Given the description of an element on the screen output the (x, y) to click on. 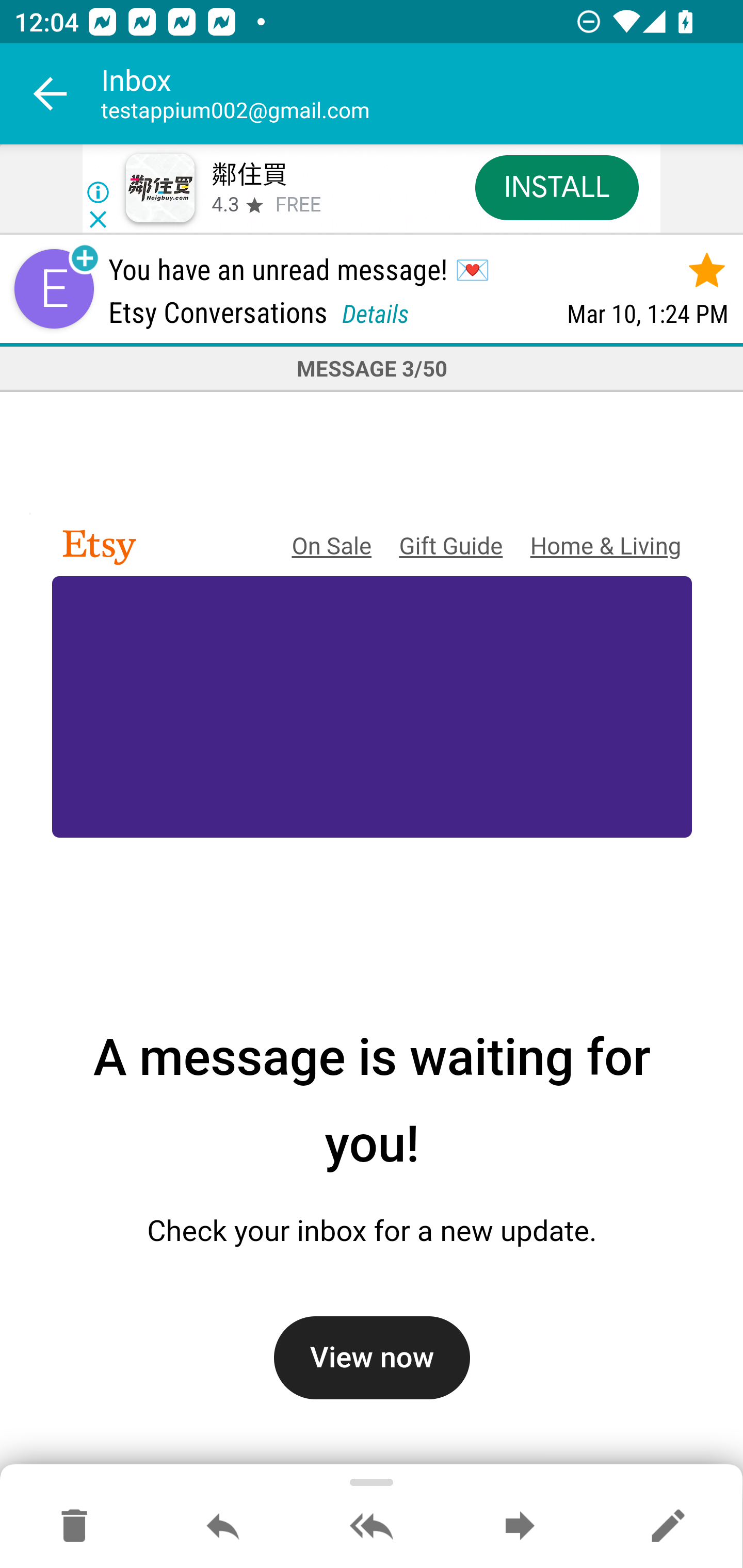
Navigate up (50, 93)
Inbox testappium002@gmail.com (422, 93)
INSTALL (556, 187)
鄰住買 (249, 175)
Sender contact button (53, 289)
On Sale (331, 547)
Gift Guide (450, 547)
Home & Living (605, 547)
Etsy (93, 546)
View now (371, 1356)
Move to Deleted (74, 1527)
Reply (222, 1527)
Reply all (371, 1527)
Forward (519, 1527)
Reply as new (667, 1527)
